Given the description of an element on the screen output the (x, y) to click on. 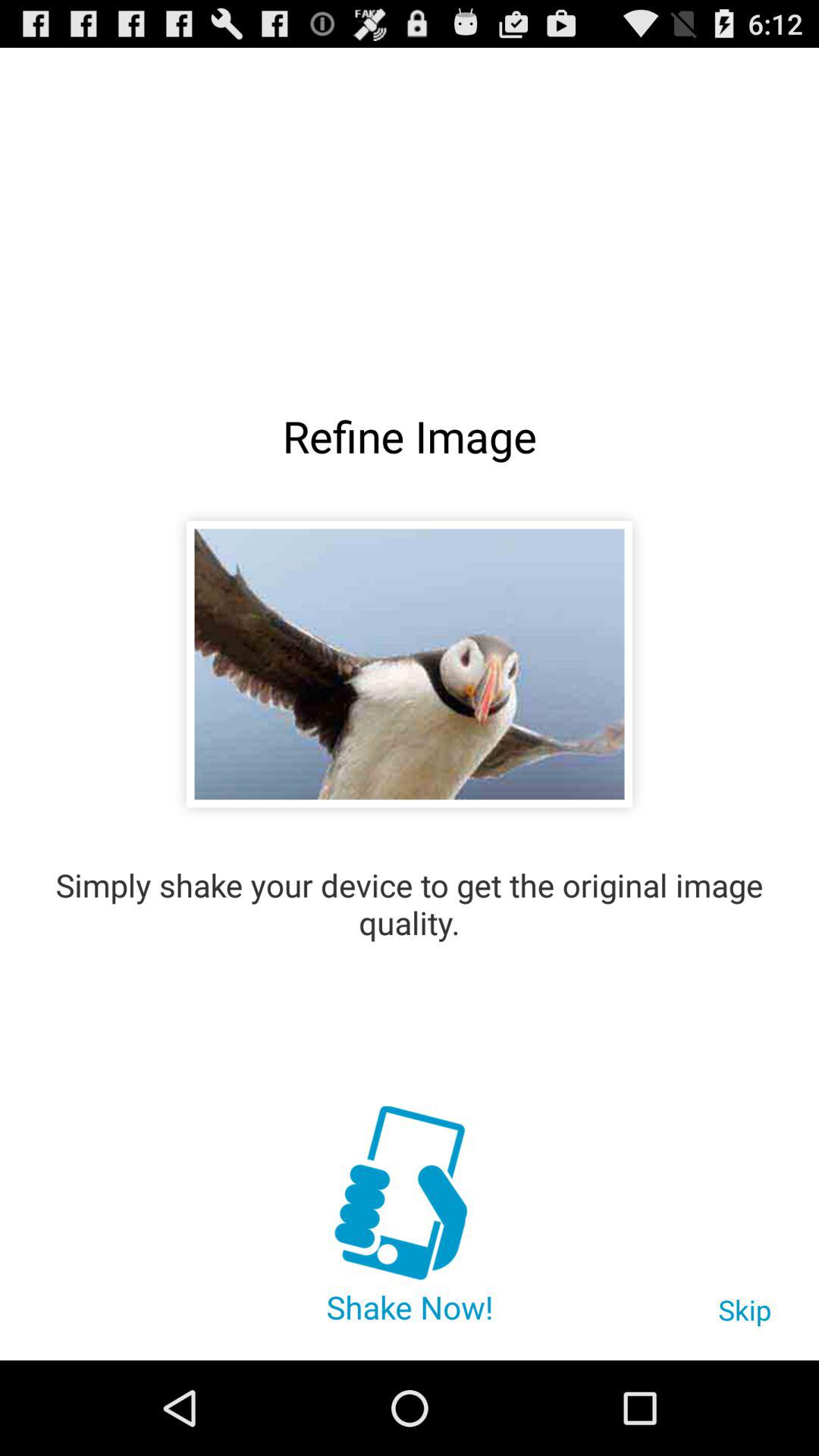
turn off icon next to skip icon (408, 1195)
